Given the description of an element on the screen output the (x, y) to click on. 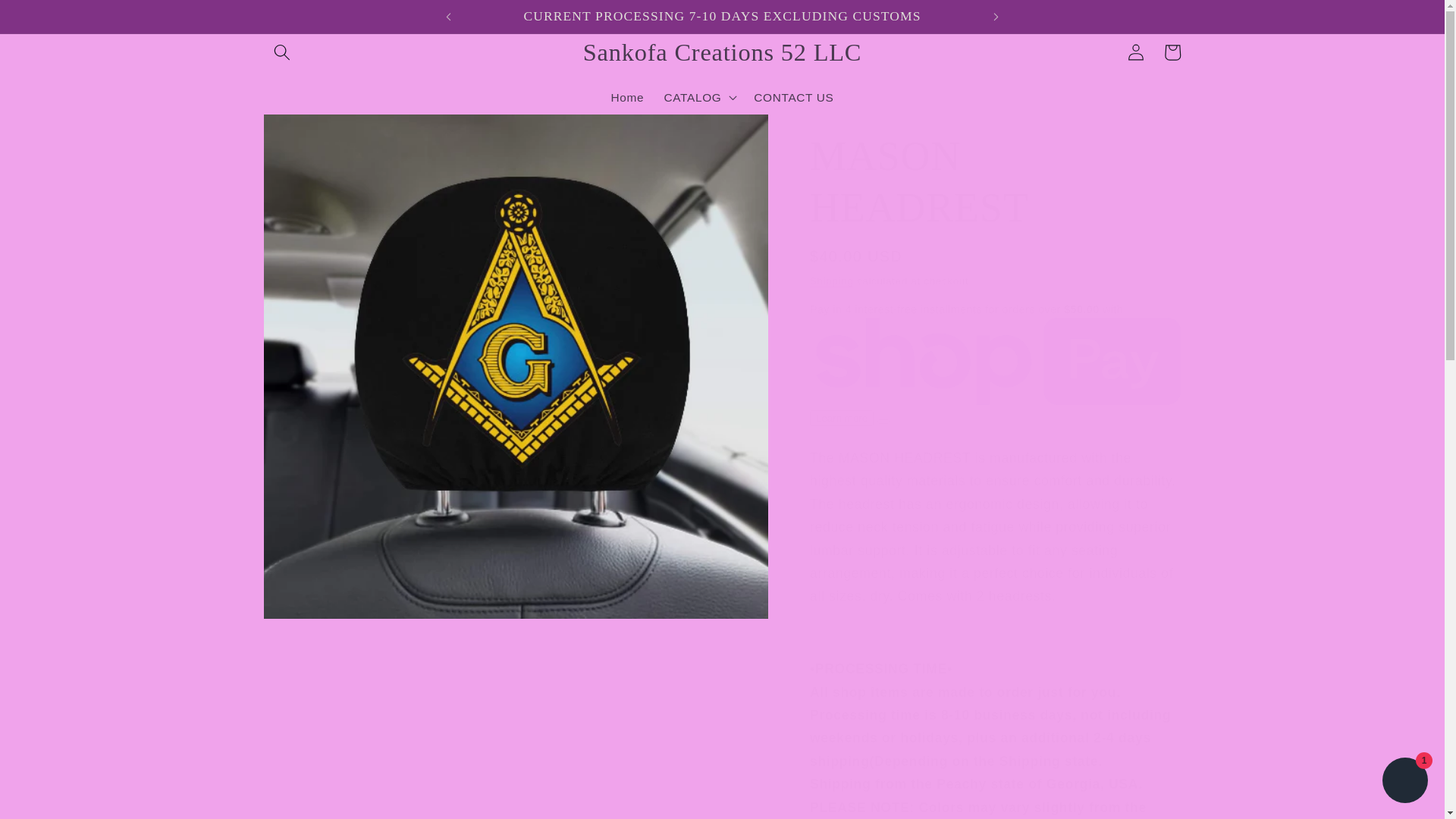
CONTACT US (794, 96)
Log in (1136, 52)
Shopify online store chat (1404, 781)
Shipping (831, 280)
Skip to content (50, 19)
Skip to product information (313, 133)
Home (626, 96)
Sankofa Creations 52 LLC (721, 52)
Cart (1172, 52)
